Given the description of an element on the screen output the (x, y) to click on. 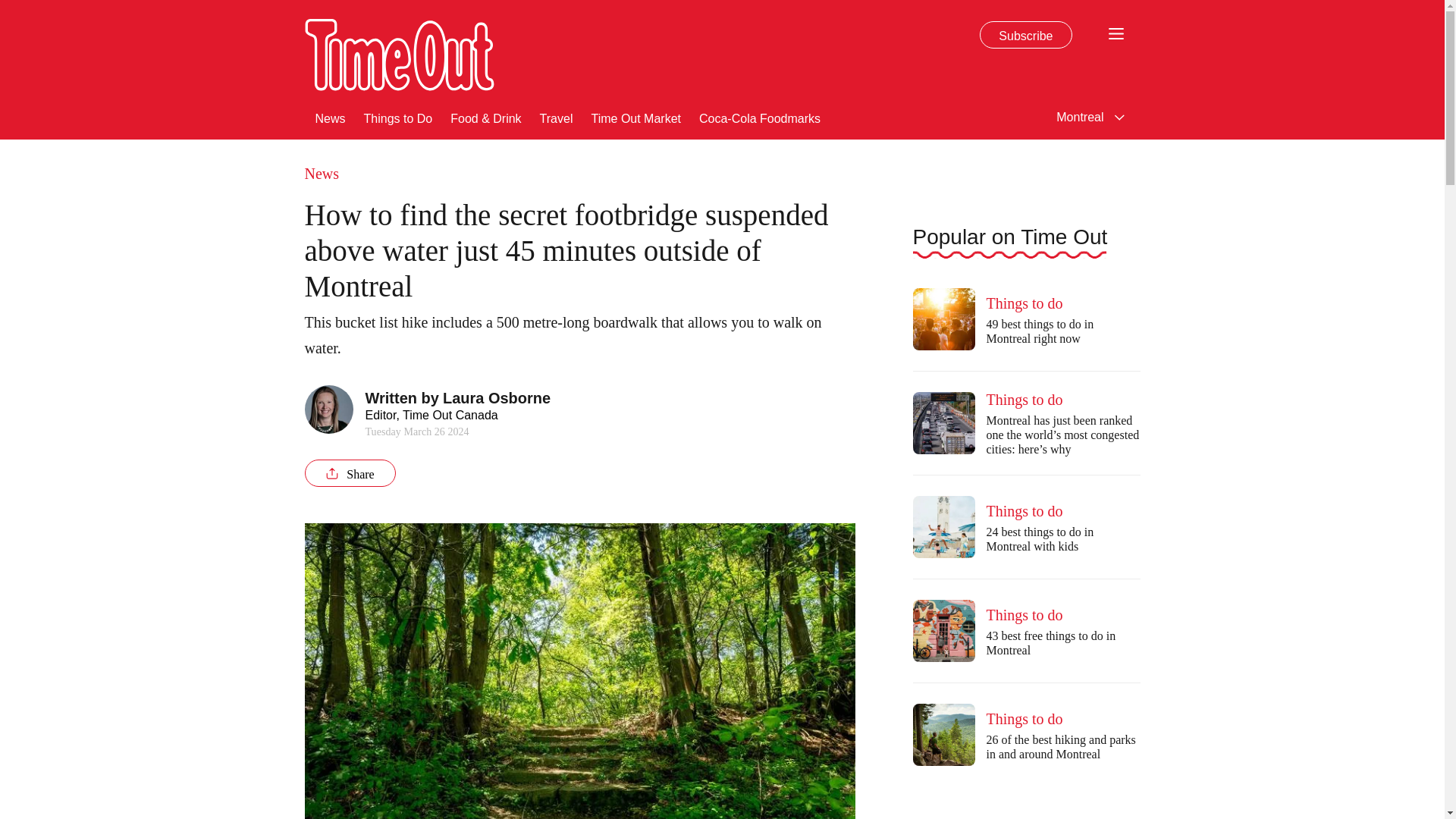
43 best free things to do in Montreal (943, 630)
News (330, 116)
Coca-Cola Foodmarks (759, 116)
Time Out Market (635, 116)
Subscribe (1025, 34)
Travel (556, 116)
Travel (556, 116)
Things to Do (397, 116)
26 of the best hiking and parks in and around Montreal (943, 734)
49 best things to do in Montreal right now (943, 319)
24 best things to do in Montreal with kids (943, 526)
Time Out Market (635, 116)
Go to the content (10, 7)
Things to Do (397, 116)
